Given the description of an element on the screen output the (x, y) to click on. 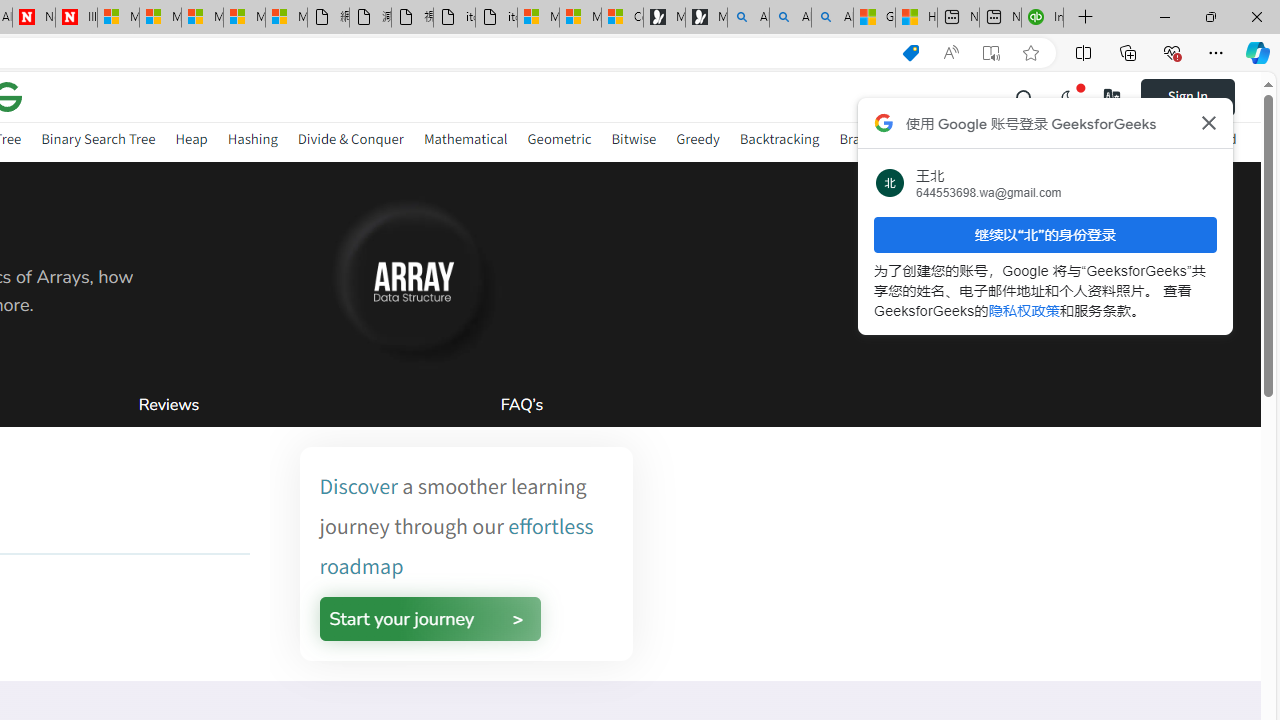
Hashing (252, 138)
Matrix (991, 138)
Alabama high school quarterback dies - Search (748, 17)
Matrix (991, 142)
Mathematical (465, 142)
Bitwise (633, 142)
toggle theme (1067, 96)
Class: Bz112c Bz112c-r9oPif (1208, 122)
How to Use a TV as a Computer Monitor (916, 17)
